Given the description of an element on the screen output the (x, y) to click on. 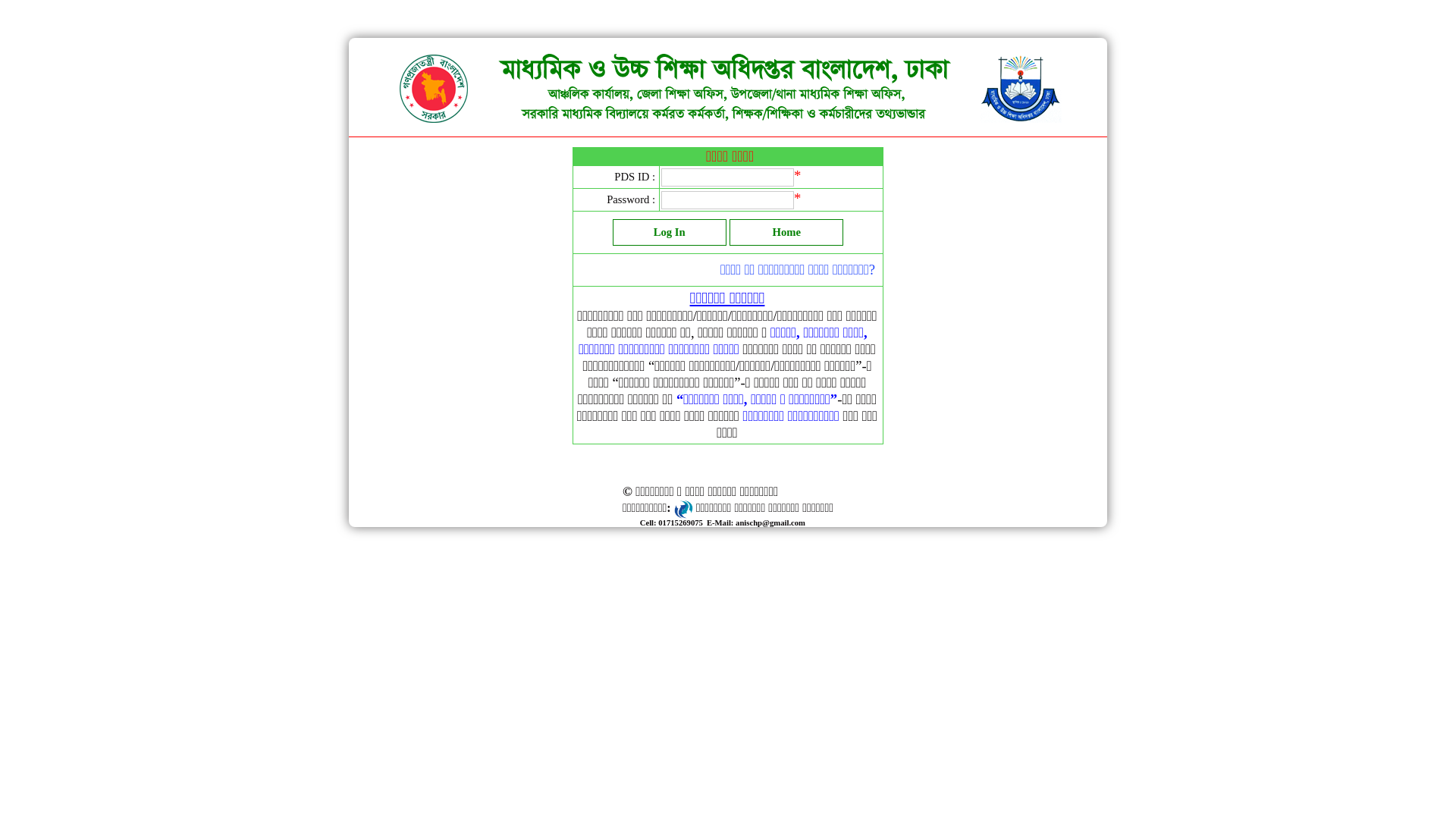
Log In Element type: text (669, 232)
Home Element type: text (786, 232)
